Given the description of an element on the screen output the (x, y) to click on. 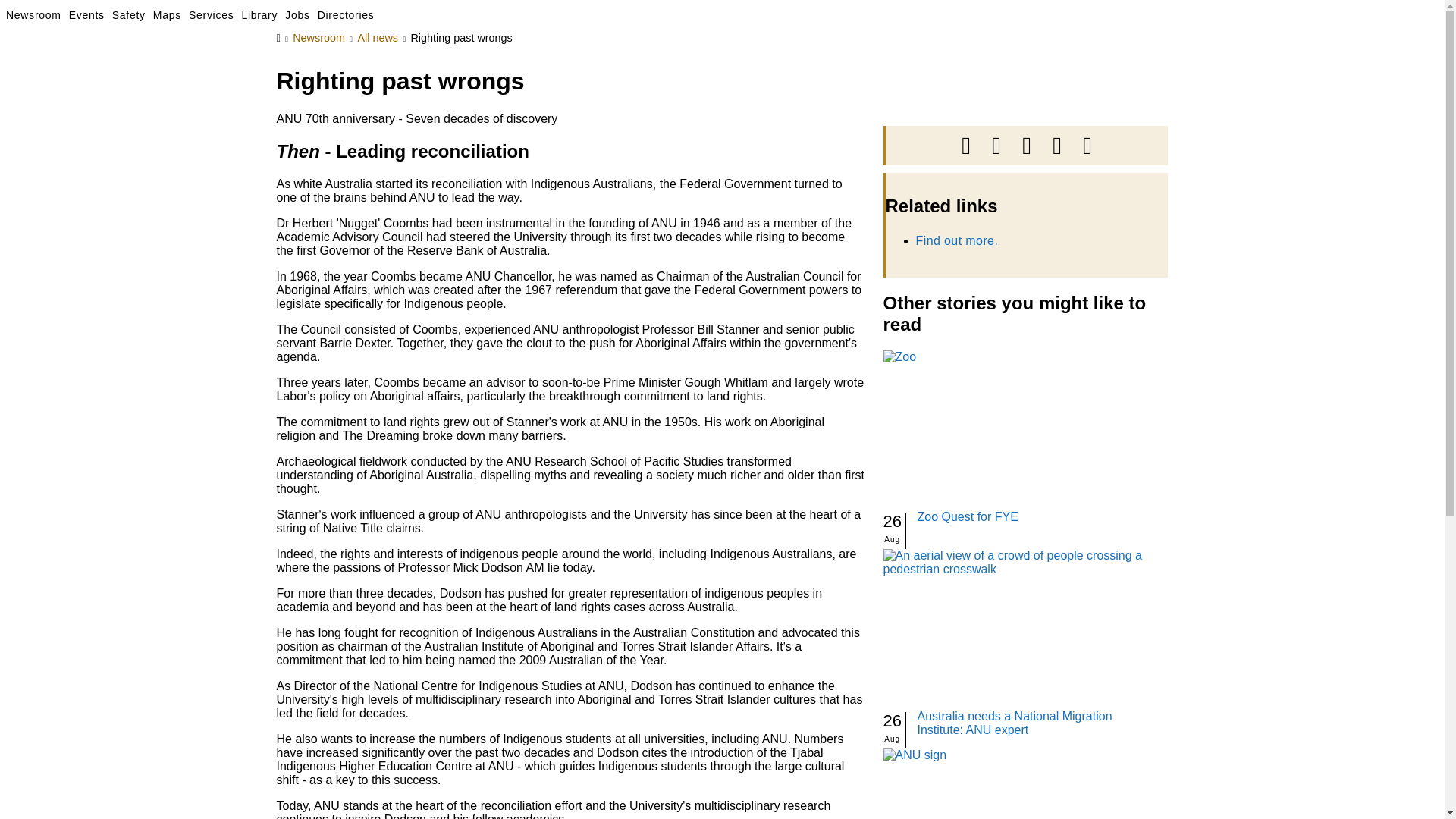
Events (90, 14)
Maps (170, 14)
Services (215, 14)
Newsroom (36, 14)
Directories (349, 14)
Library (263, 14)
Jobs (301, 14)
Safety (132, 14)
